Given the description of an element on the screen output the (x, y) to click on. 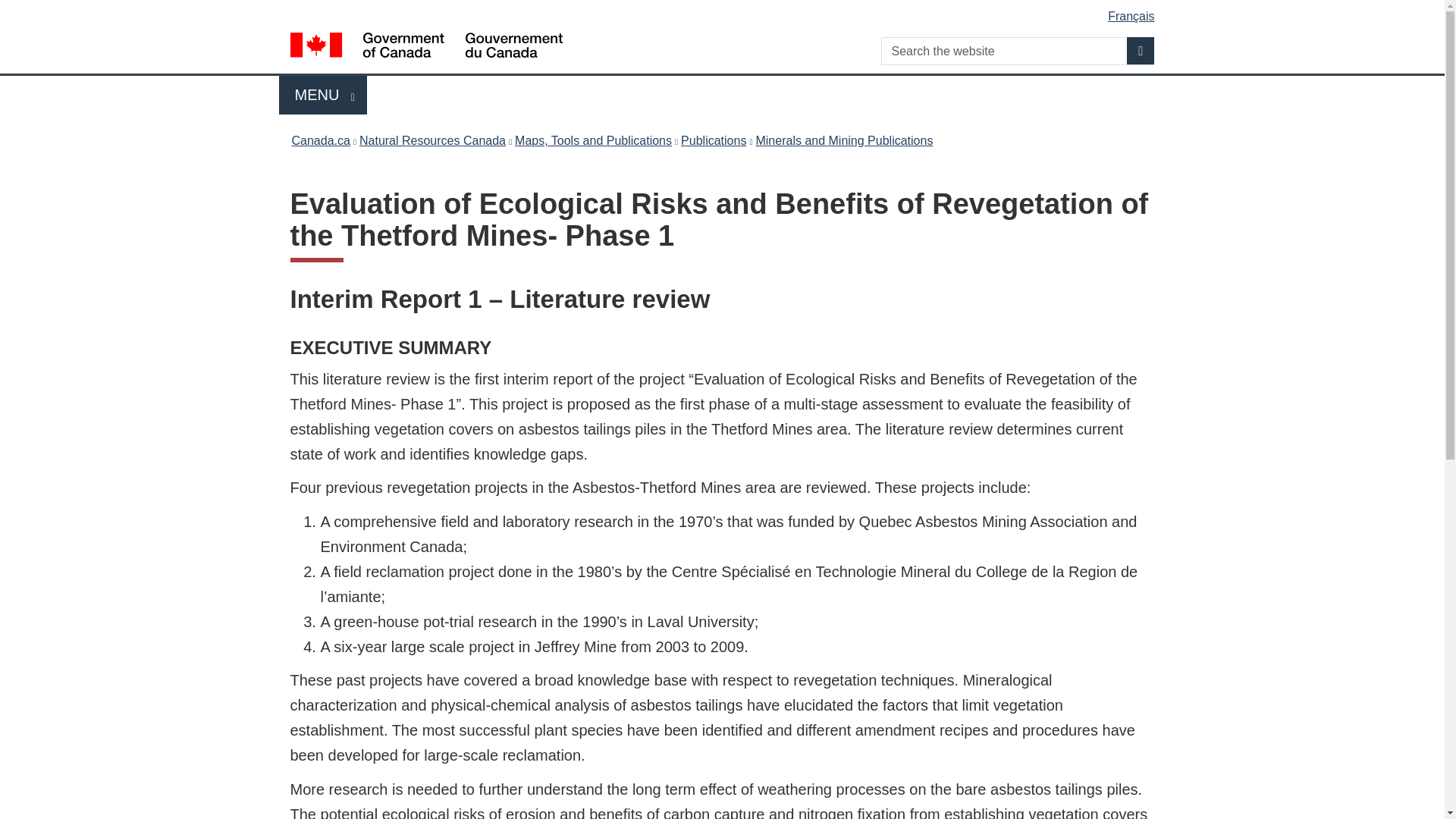
Skip to main content (725, 11)
Search (1140, 50)
Minerals and Mining Publications (844, 140)
Natural Resources Canada (432, 140)
Publications (713, 140)
Canada.ca (320, 140)
Maps, Tools and Publications (593, 140)
